Given the description of an element on the screen output the (x, y) to click on. 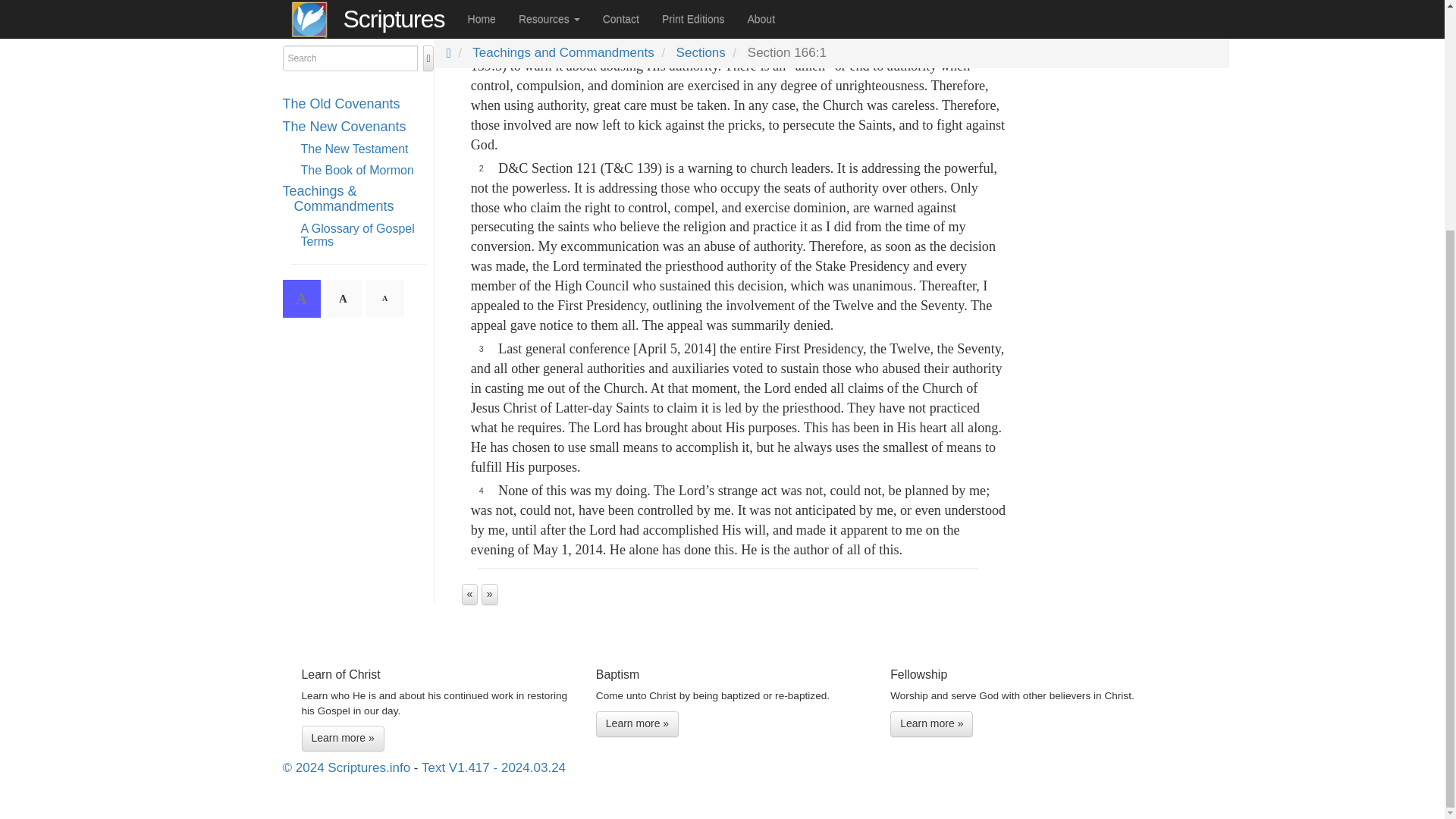
A (343, 2)
Text V1.417 - 2024.03.24 (494, 767)
A (301, 2)
A (384, 2)
